Given the description of an element on the screen output the (x, y) to click on. 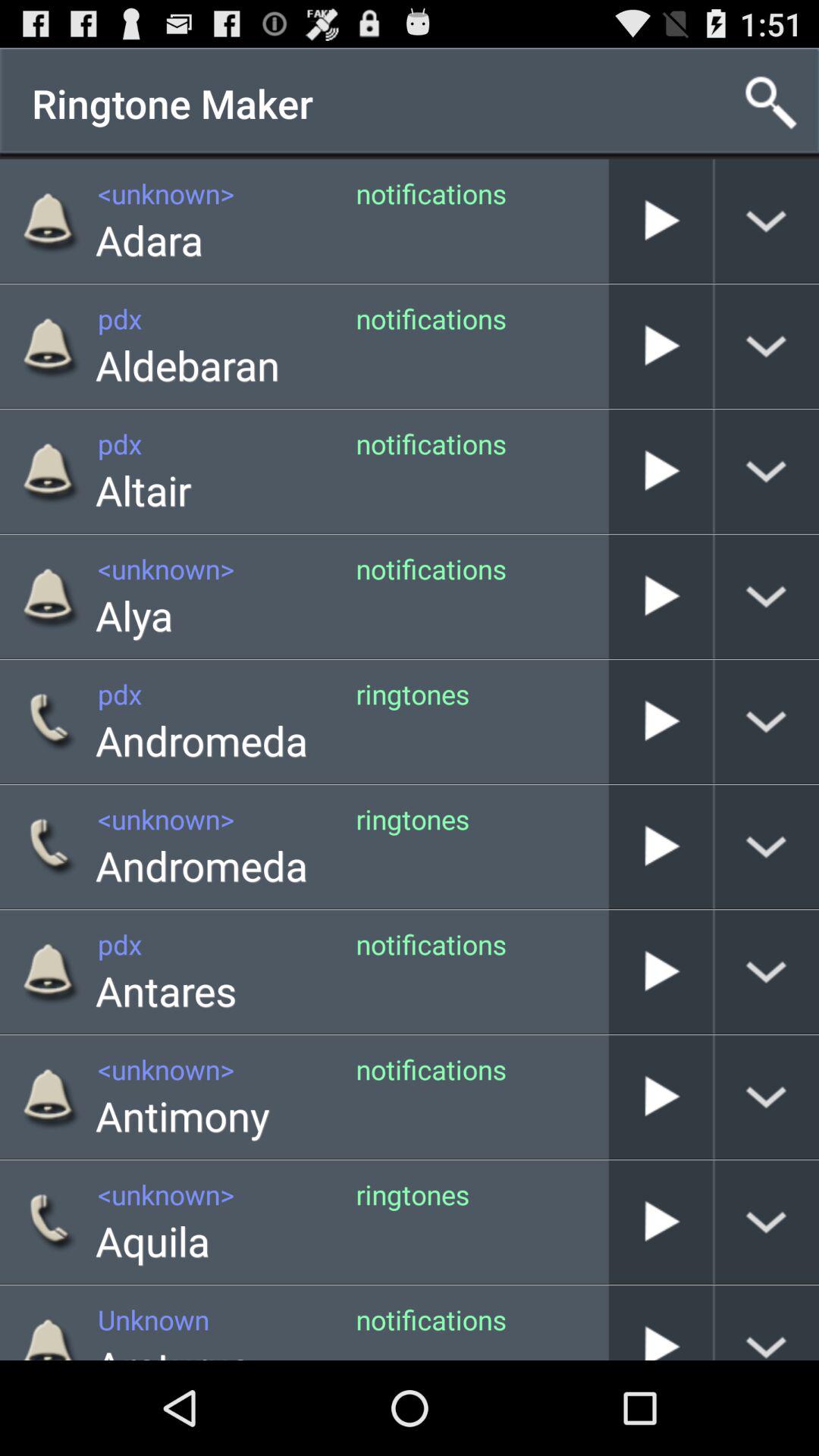
expand item (767, 1097)
